Given the description of an element on the screen output the (x, y) to click on. 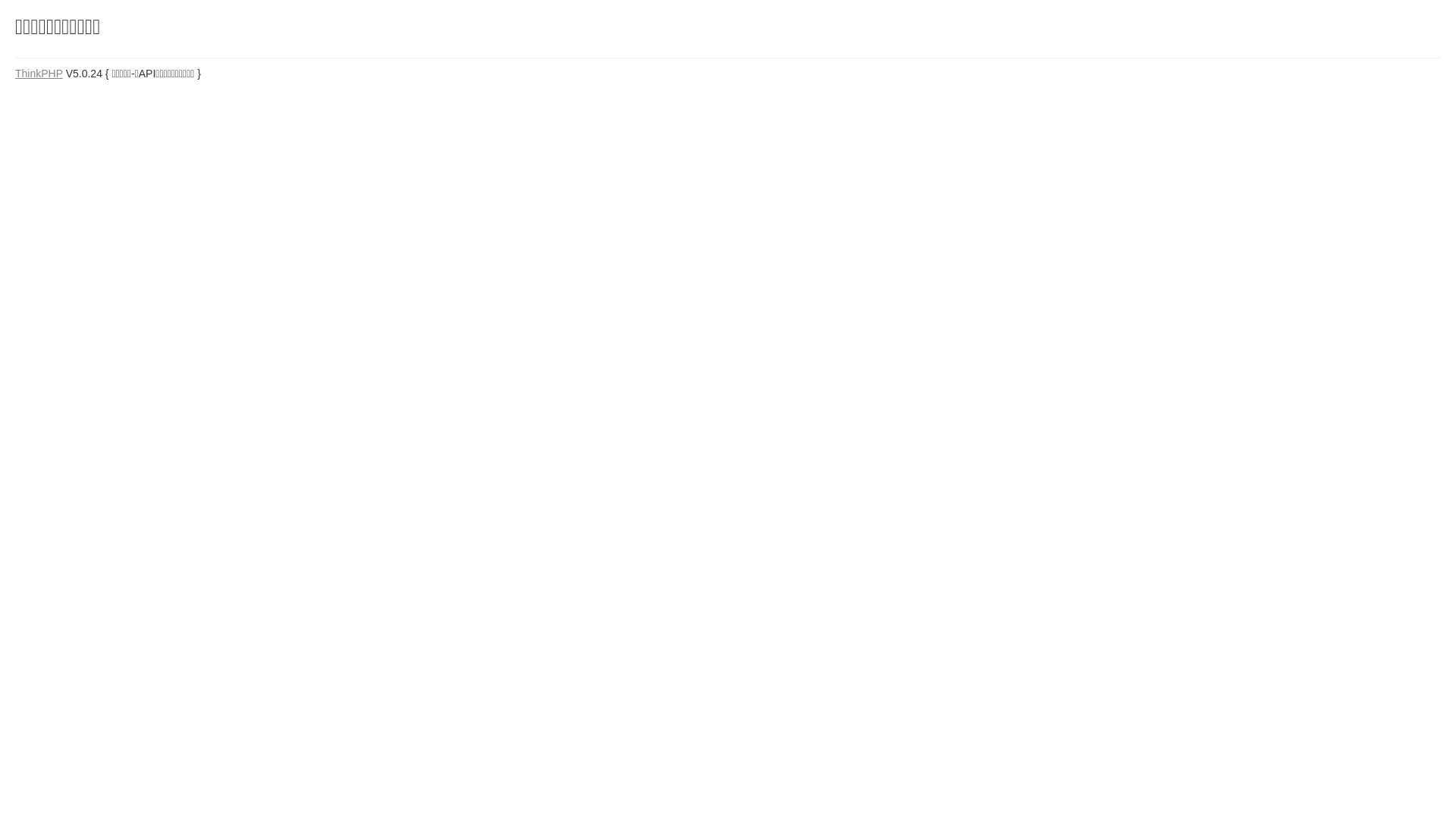
ThinkPHP Element type: text (38, 73)
